Given the description of an element on the screen output the (x, y) to click on. 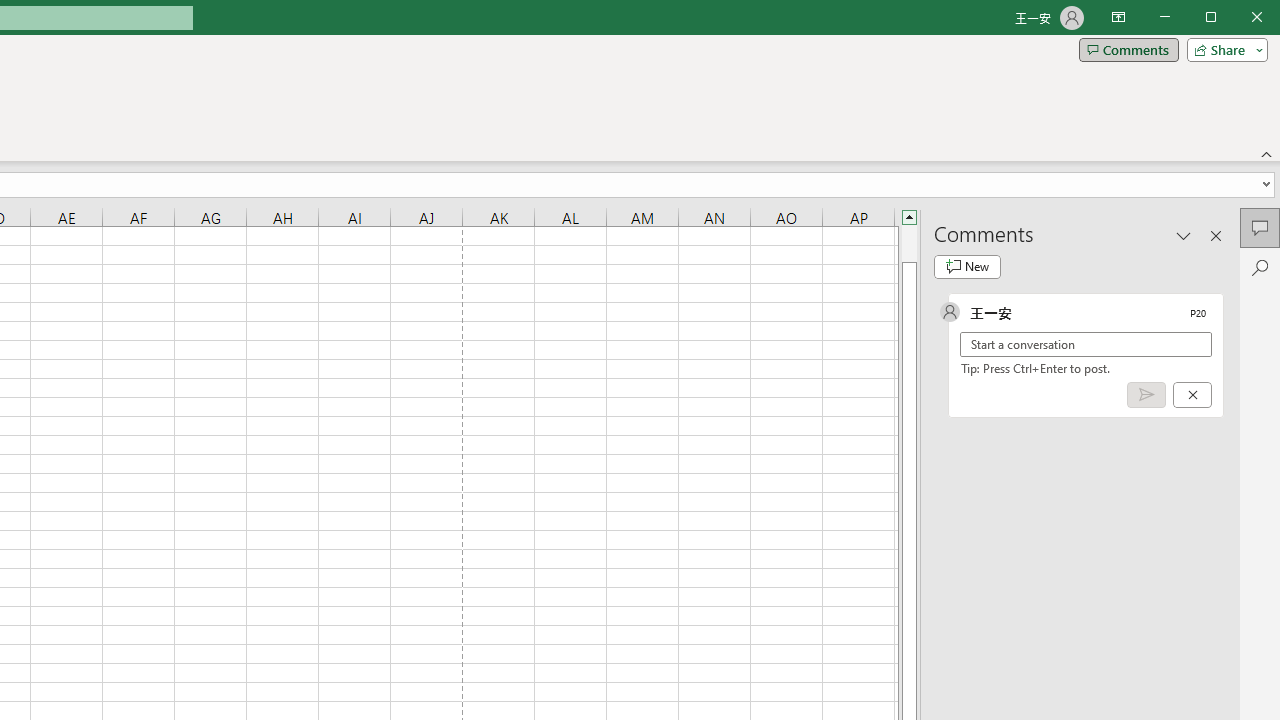
Search (1260, 267)
